Given the description of an element on the screen output the (x, y) to click on. 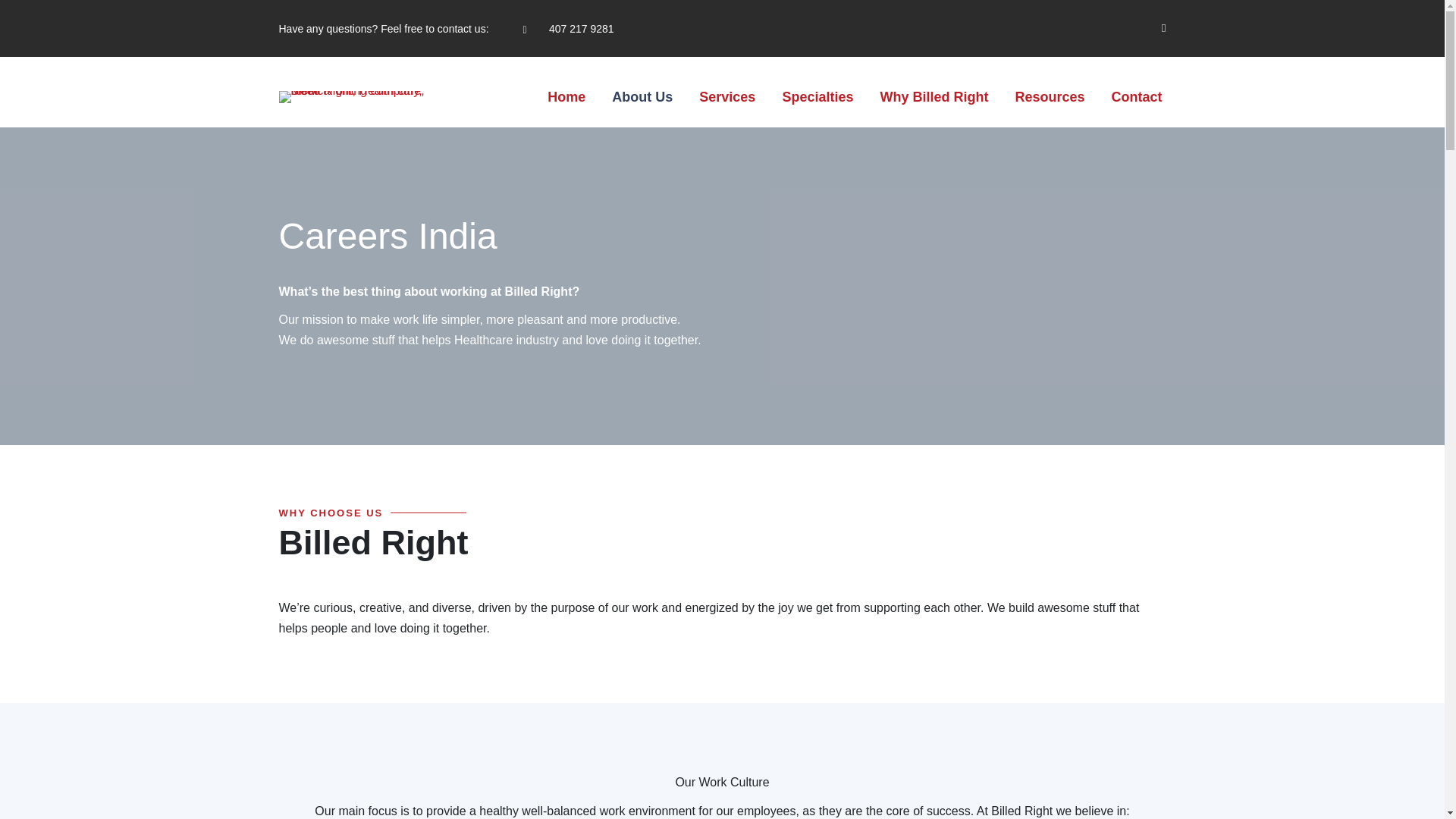
Specialties (817, 97)
About Us (641, 97)
407 217 9281 (581, 28)
Services (726, 97)
